Given the description of an element on the screen output the (x, y) to click on. 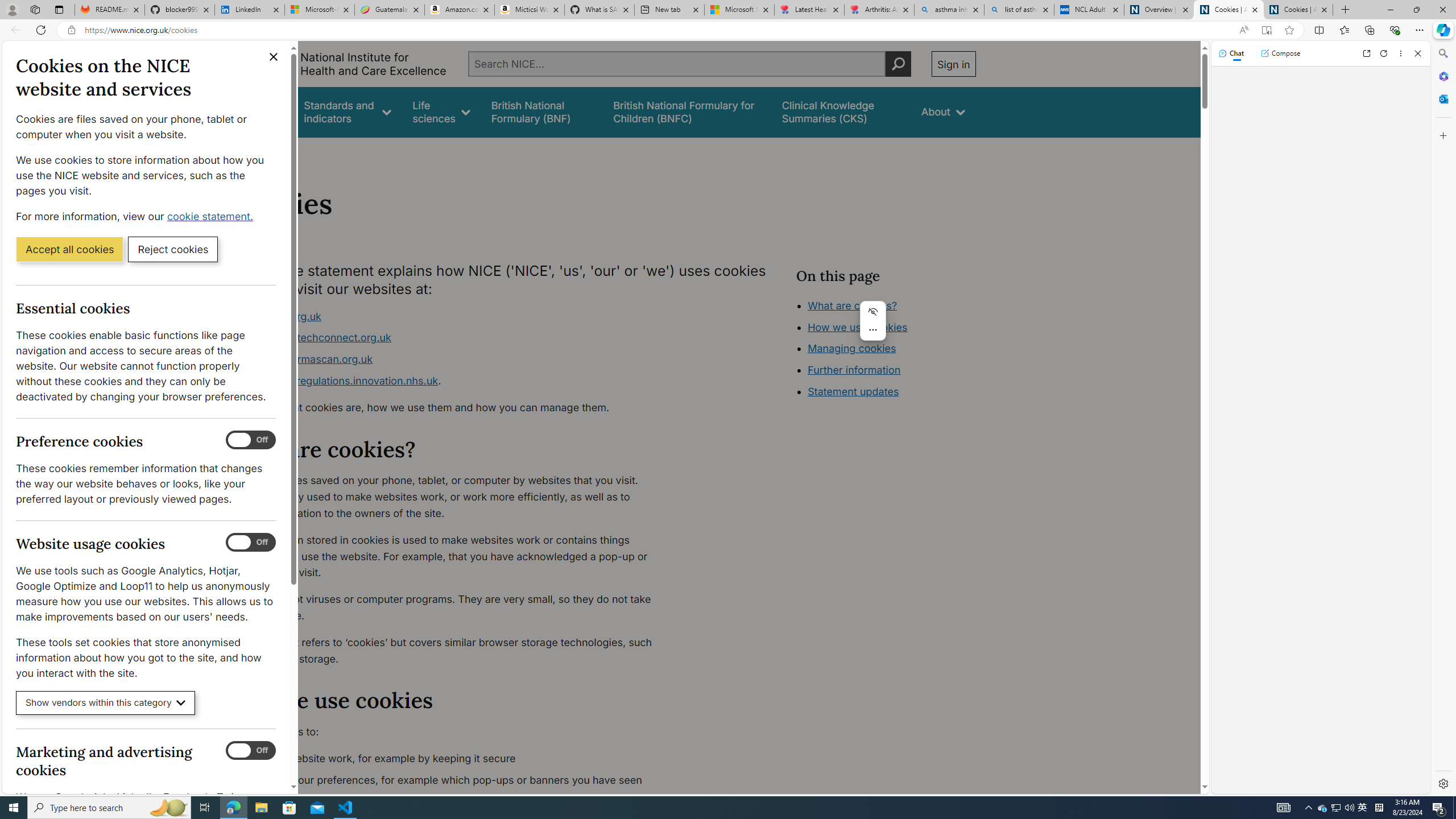
Website usage cookies (250, 542)
Compose (1280, 52)
More actions (872, 330)
Life sciences (440, 111)
www.healthtechconnect.org.uk (452, 338)
